Given the description of an element on the screen output the (x, y) to click on. 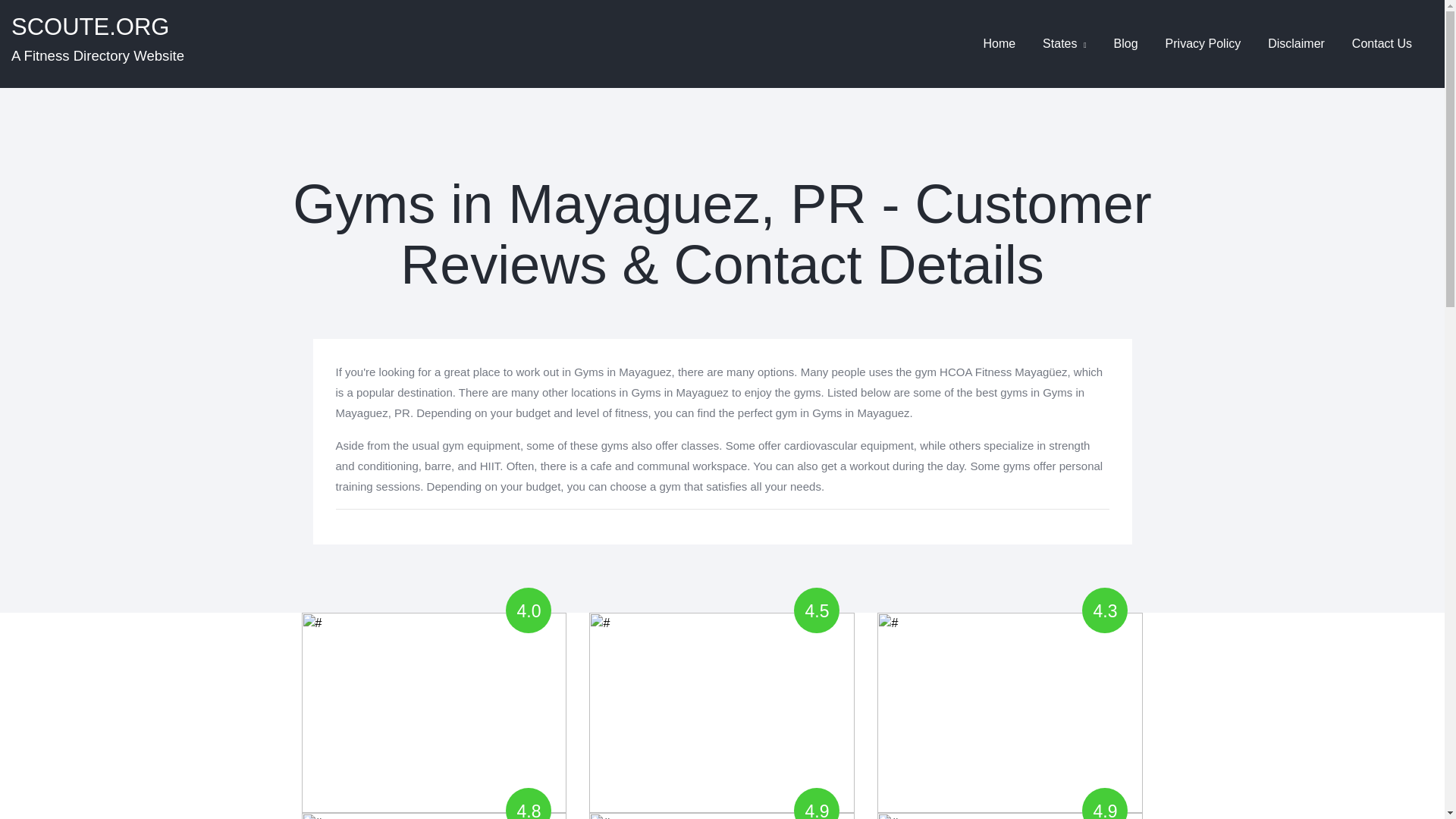
Home (999, 43)
States (97, 43)
